Given the description of an element on the screen output the (x, y) to click on. 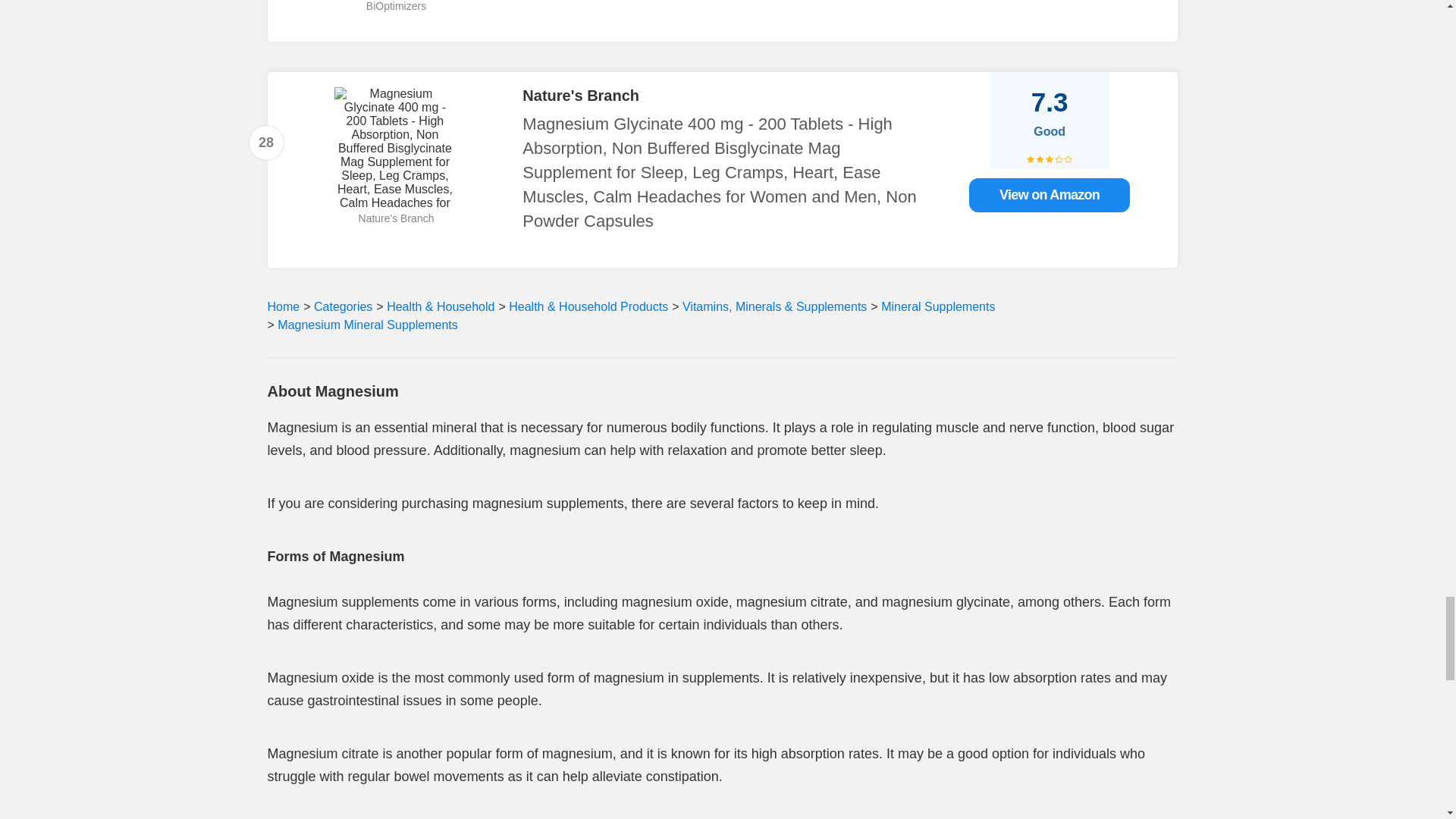
Categories (343, 306)
Mineral Supplements (937, 306)
Home (282, 306)
Magnesium Mineral Supplements (366, 324)
